Given the description of an element on the screen output the (x, y) to click on. 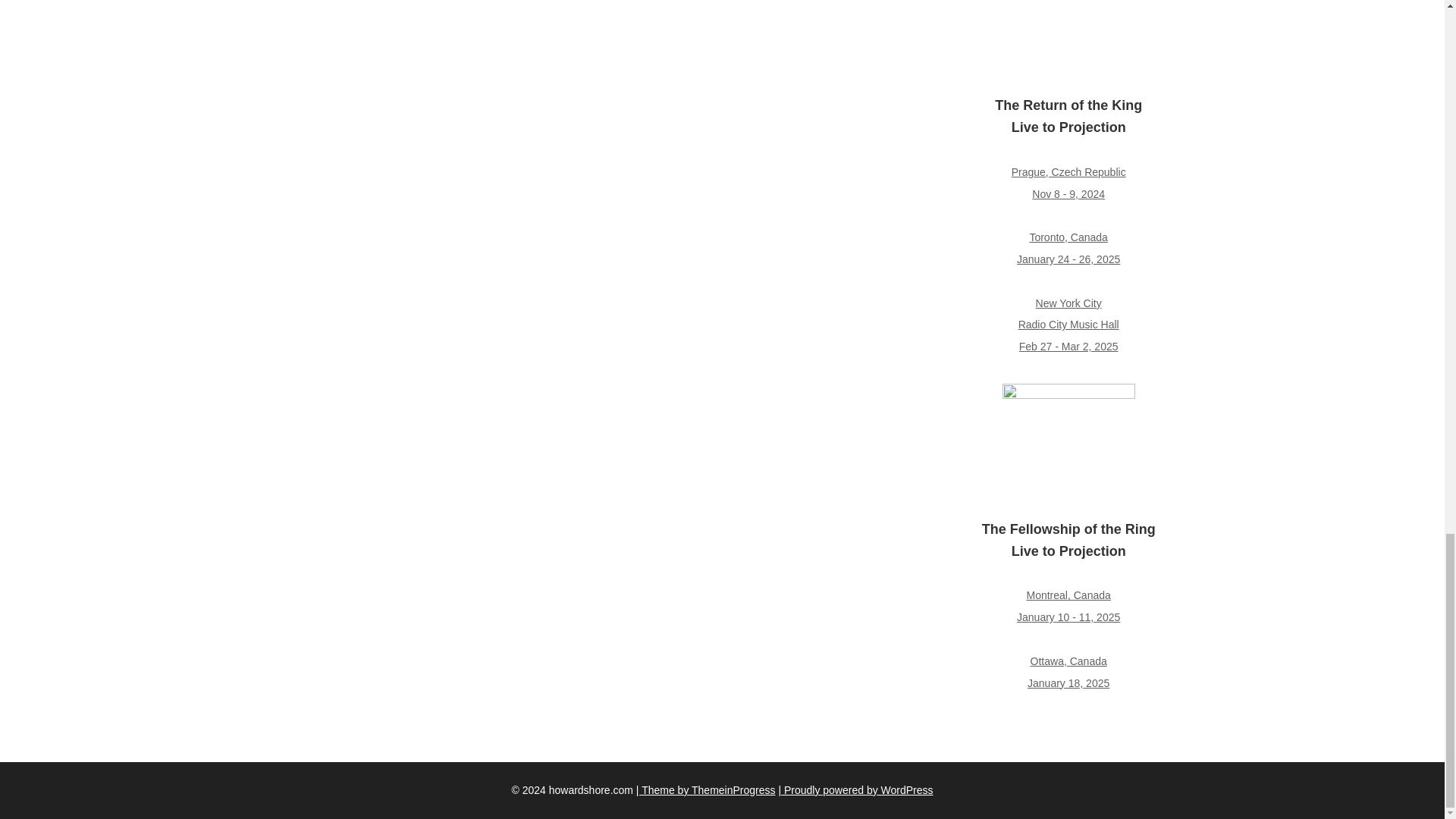
A Semantic Personal Publishing Platform (855, 789)
